Given the description of an element on the screen output the (x, y) to click on. 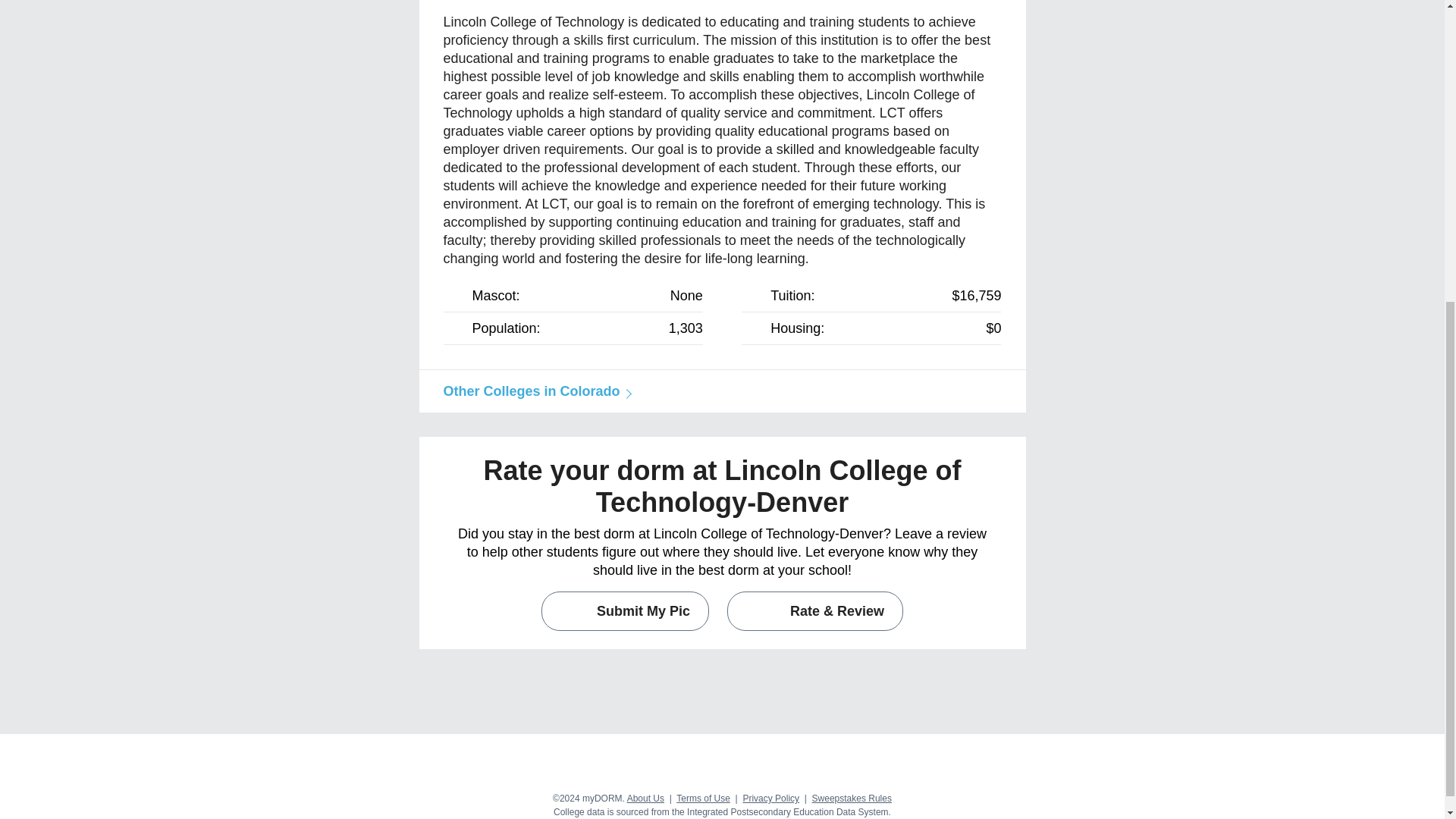
Privacy Policy (770, 798)
Terms of Use (703, 798)
Other Colleges in Colorado (534, 391)
Sweepstakes Rules (851, 798)
About Us (645, 798)
Submit My Pic (625, 610)
